Given the description of an element on the screen output the (x, y) to click on. 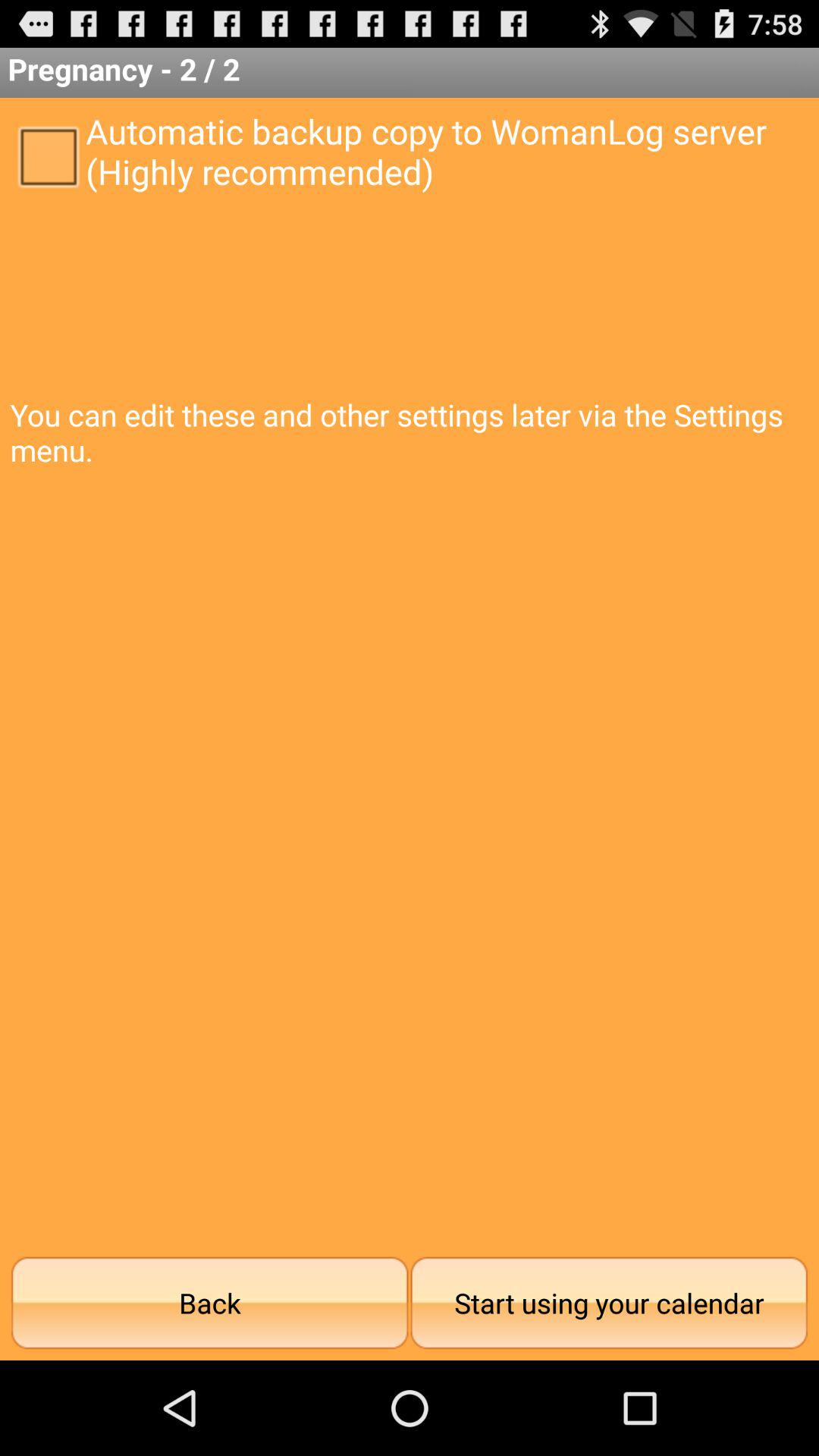
turn on the app above you can edit app (47, 155)
